Given the description of an element on the screen output the (x, y) to click on. 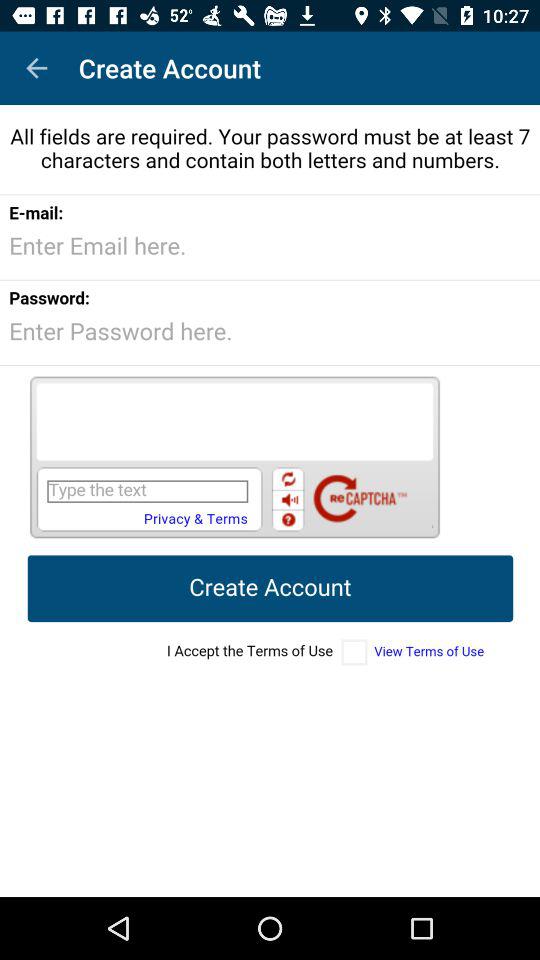
create our account (270, 501)
